Given the description of an element on the screen output the (x, y) to click on. 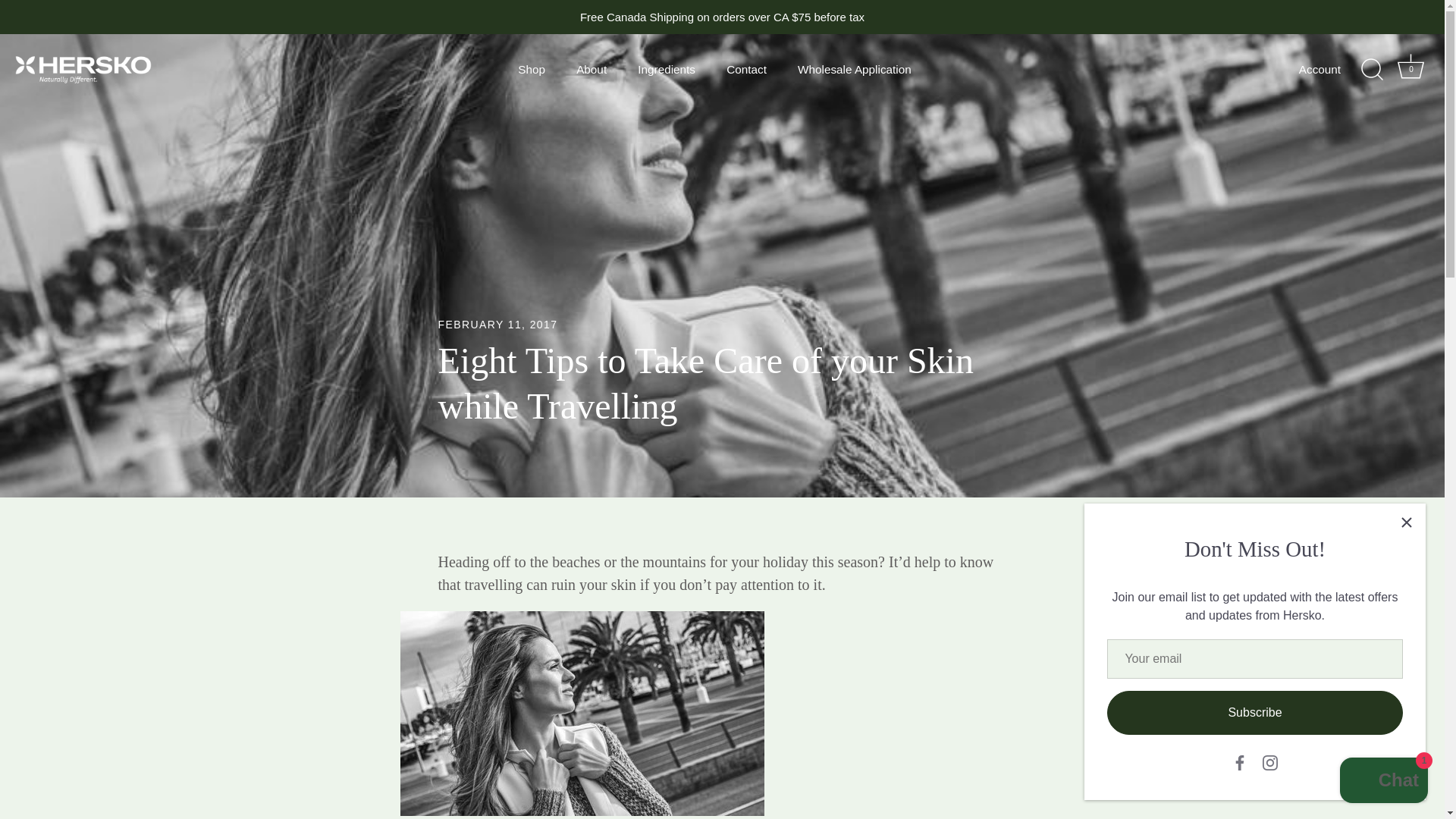
About (591, 69)
Contact (746, 69)
Shop (531, 69)
Ingredients (666, 69)
Wholesale Application (854, 69)
Shopify online store chat (1383, 781)
Account (1411, 69)
Instagram (1332, 69)
Cart (1270, 762)
